Given the description of an element on the screen output the (x, y) to click on. 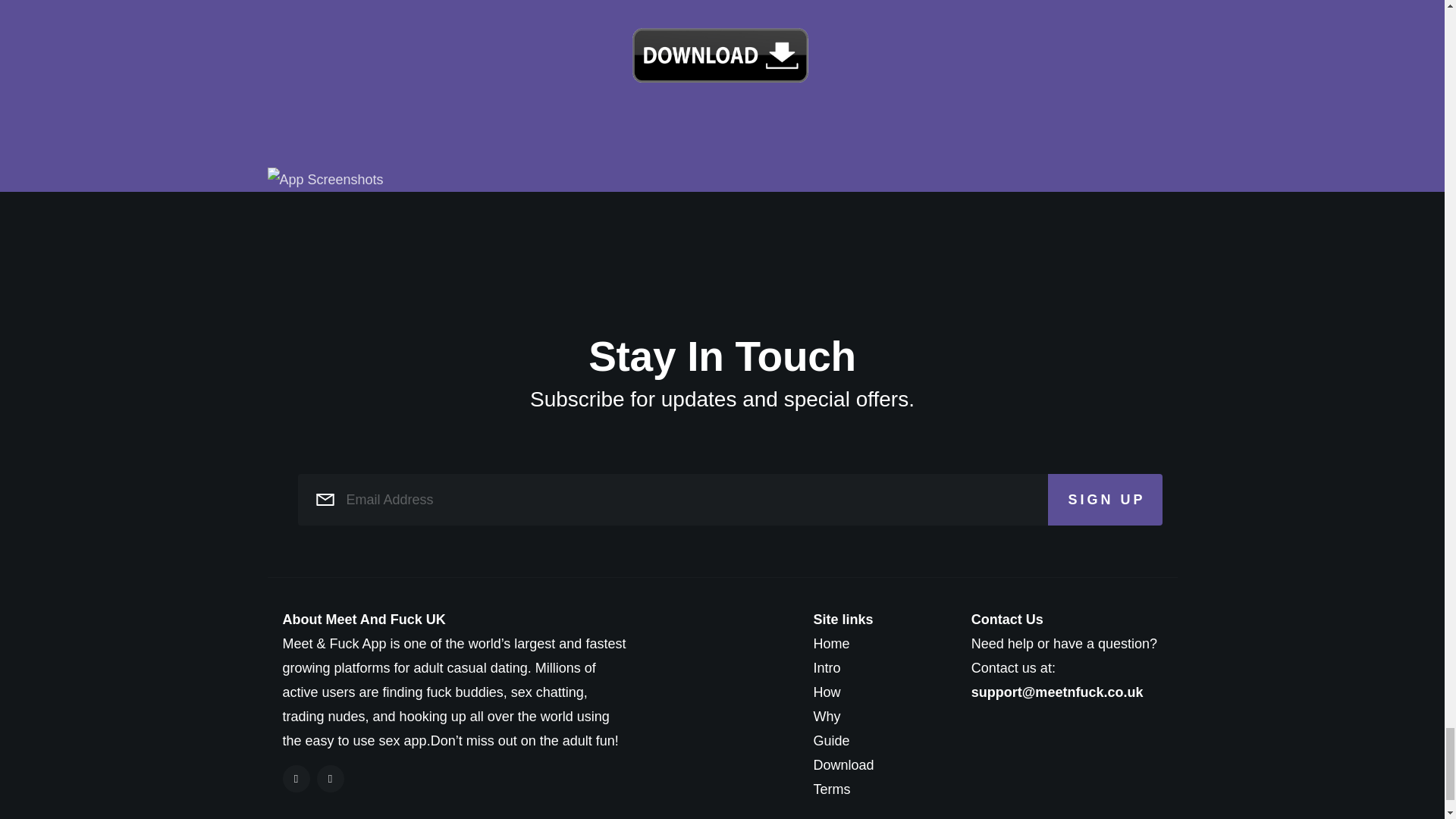
Why (876, 716)
Guide (876, 740)
Sign Up (1104, 499)
Download (876, 764)
Signup (719, 54)
Home (876, 643)
Home (876, 643)
Download (876, 764)
Signup (719, 54)
Intro (876, 668)
